Given the description of an element on the screen output the (x, y) to click on. 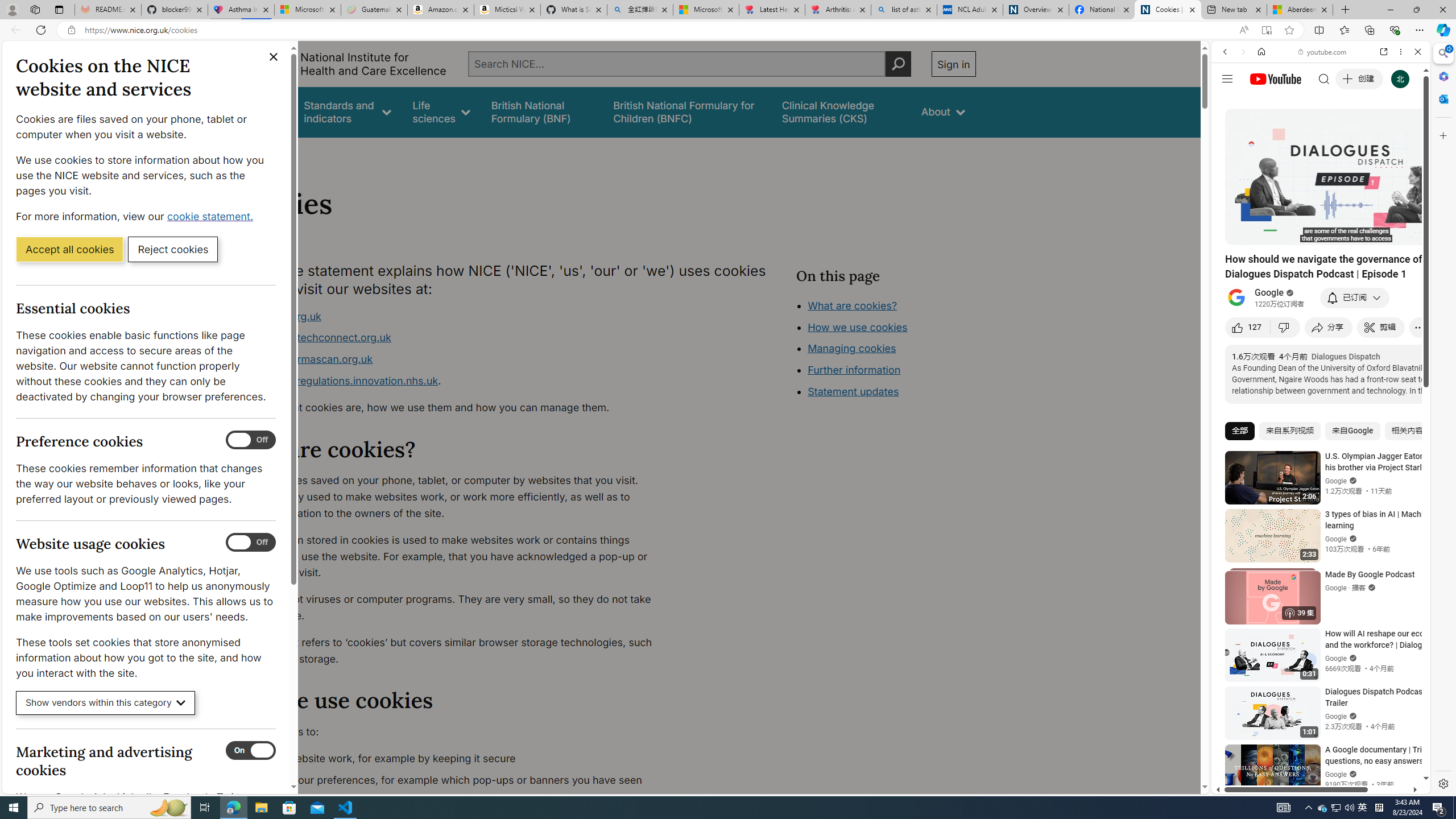
Click to scroll right (1407, 456)
www.healthtechconnect.org.uk (452, 338)
Class: in-page-nav__list (884, 349)
How we use cookies (896, 389)
Search videos from youtube.com (1299, 373)
Guidance (260, 111)
